Given the description of an element on the screen output the (x, y) to click on. 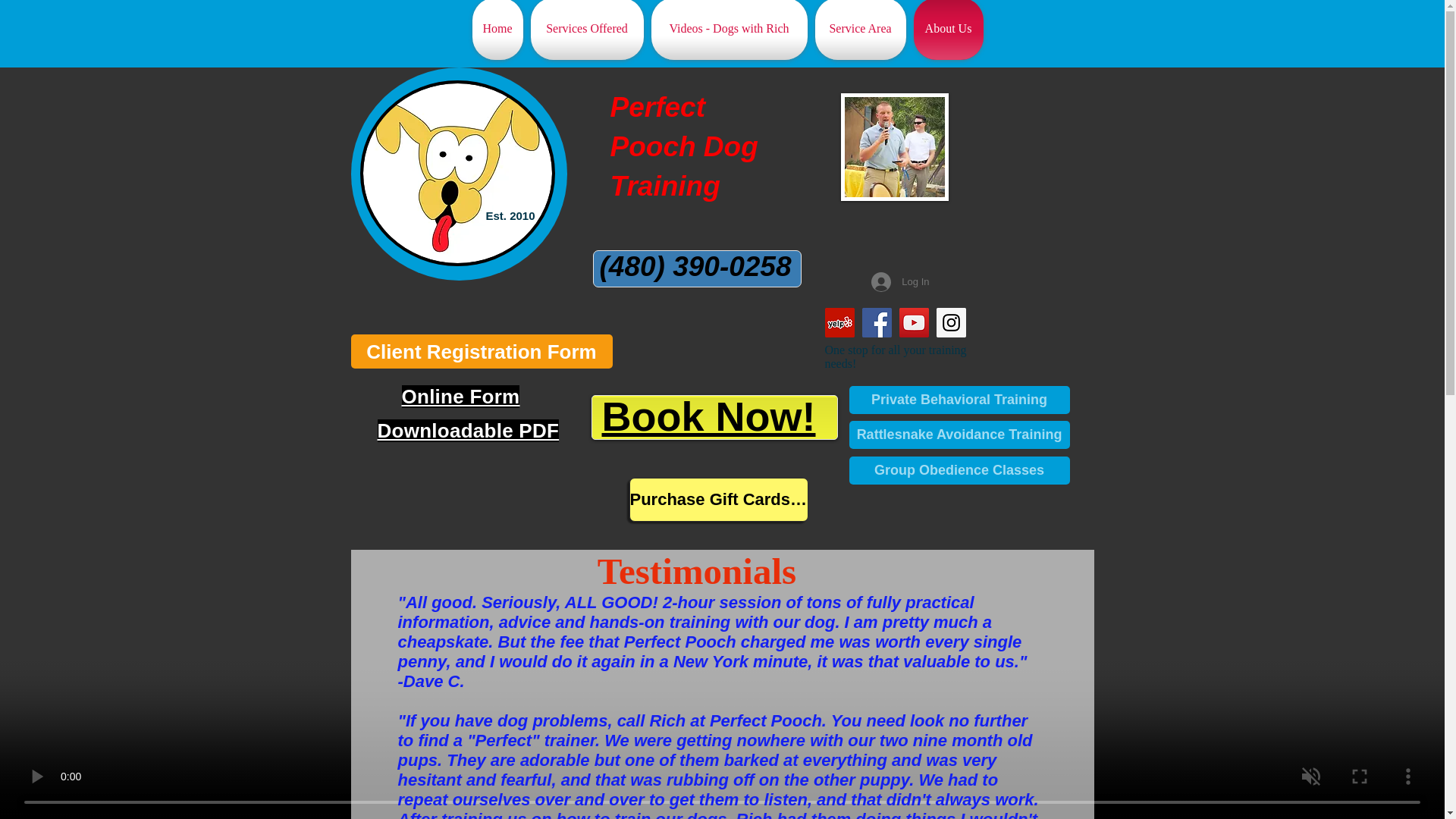
Group Obedience Classes (959, 470)
Private Behavioral Training (959, 399)
Videos - Dogs with Rich (728, 29)
Book Now! (708, 415)
Client Registration Form (480, 351)
Services Offered (585, 29)
Online Form (460, 395)
Perfect Pooch Dog Training (683, 146)
About Us (948, 29)
Rattlesnake Avoidance Training (959, 434)
Log In (899, 281)
Service Area (860, 29)
Logo HeadJPEG.jpg (456, 173)
Downloadable PDF (468, 430)
Purchase Gift Cards Here (718, 499)
